Given the description of an element on the screen output the (x, y) to click on. 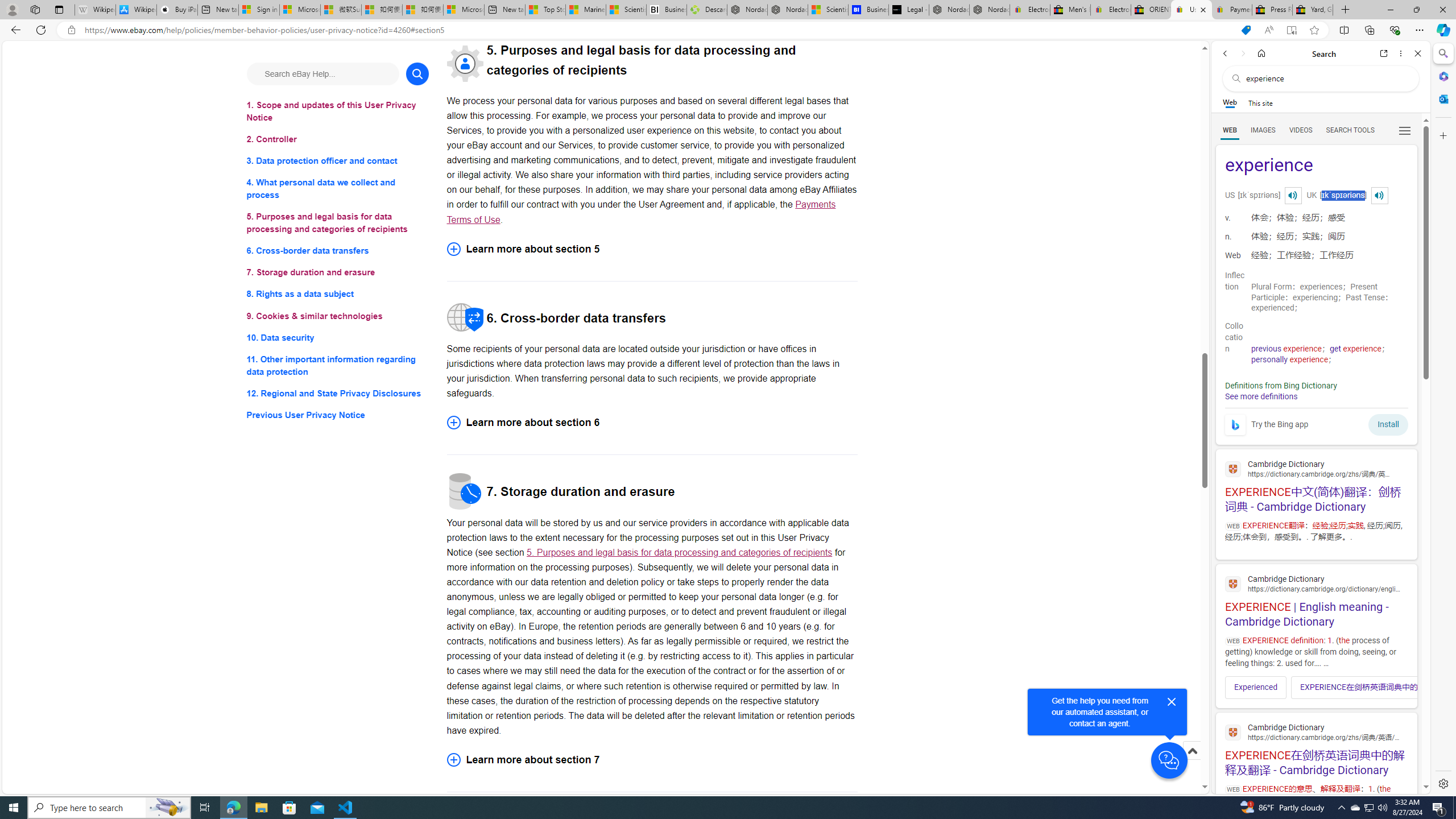
Previous User Privacy Notice (337, 414)
3. Data protection officer and contact (337, 160)
Scroll to top (1191, 762)
10. Data security (337, 336)
Electronics, Cars, Fashion, Collectibles & More | eBay (1110, 9)
6. Cross-border data transfers (337, 250)
Marine life - MSN (585, 9)
Search Filter, IMAGES (1262, 129)
12. Regional and State Privacy Disclosures (337, 392)
